Given the description of an element on the screen output the (x, y) to click on. 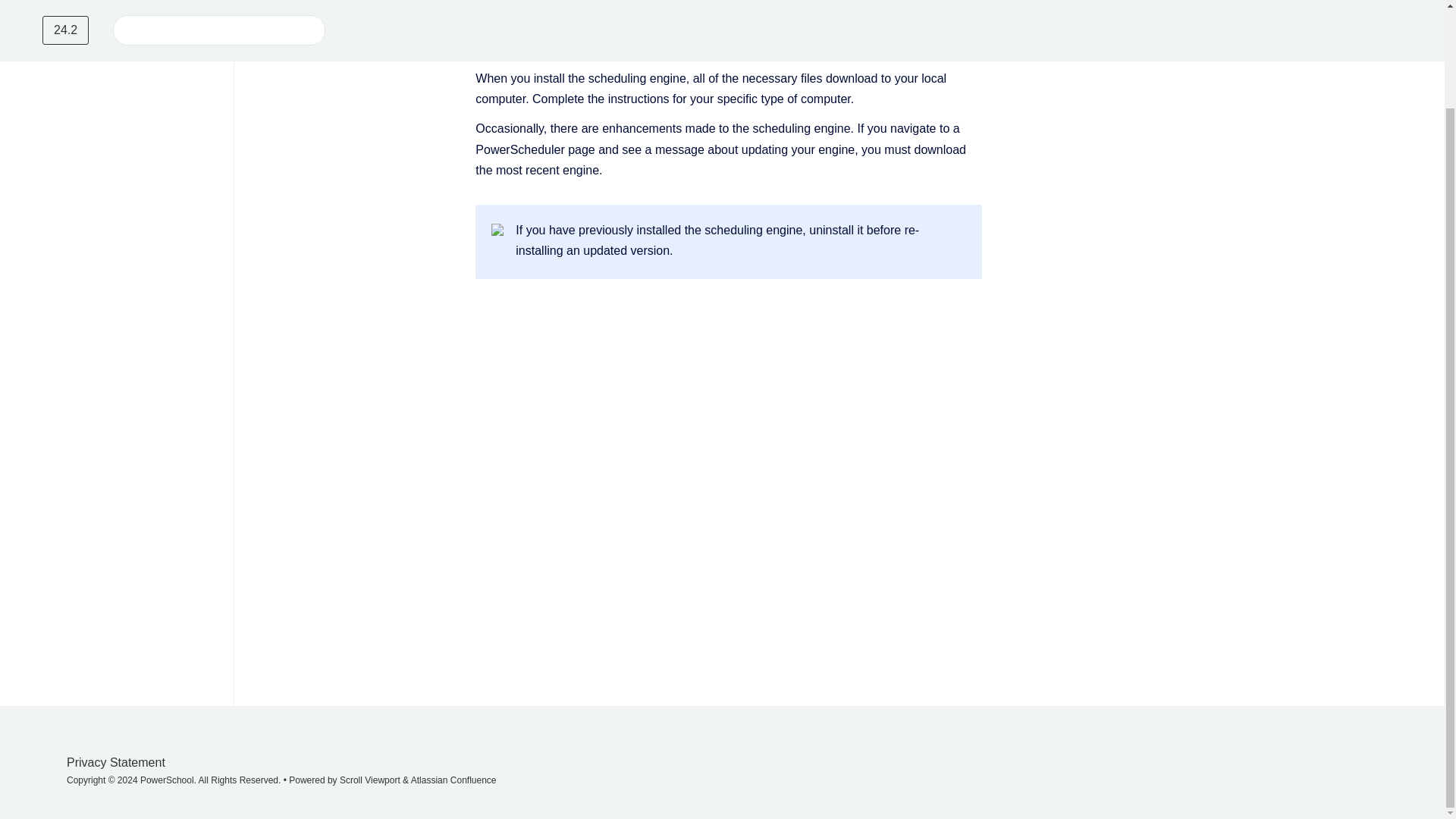
Privacy Statement (115, 762)
Atlassian Confluence (453, 779)
Scroll Viewport (371, 779)
Build the Master Schedule Overview (555, 1)
